Given the description of an element on the screen output the (x, y) to click on. 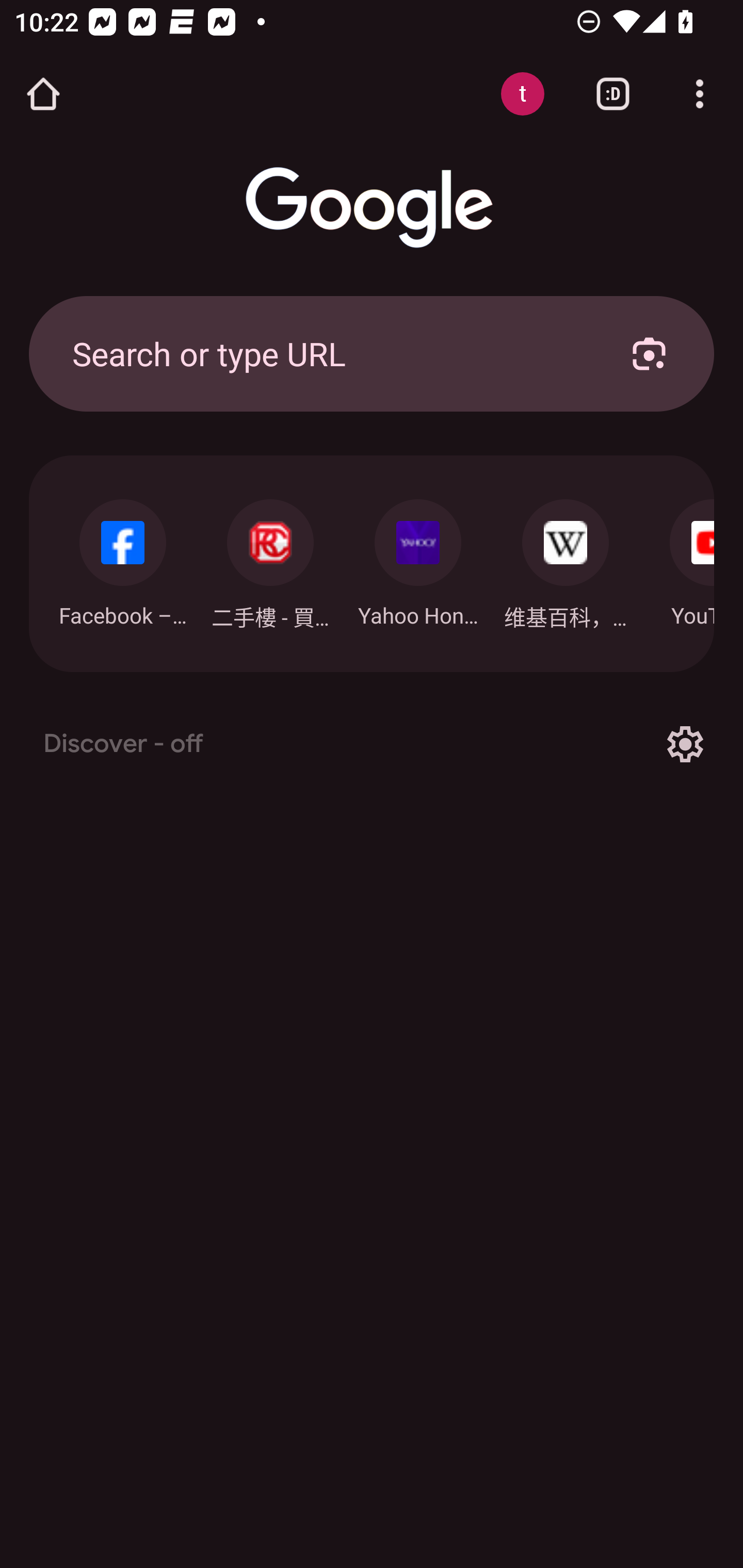
Open the home page (43, 93)
Switch or close tabs (612, 93)
Customize and control Google Chrome (699, 93)
Search or type URL (327, 353)
Search with your camera using Google Lens (648, 353)
Options for Discover (684, 743)
